Given the description of an element on the screen output the (x, y) to click on. 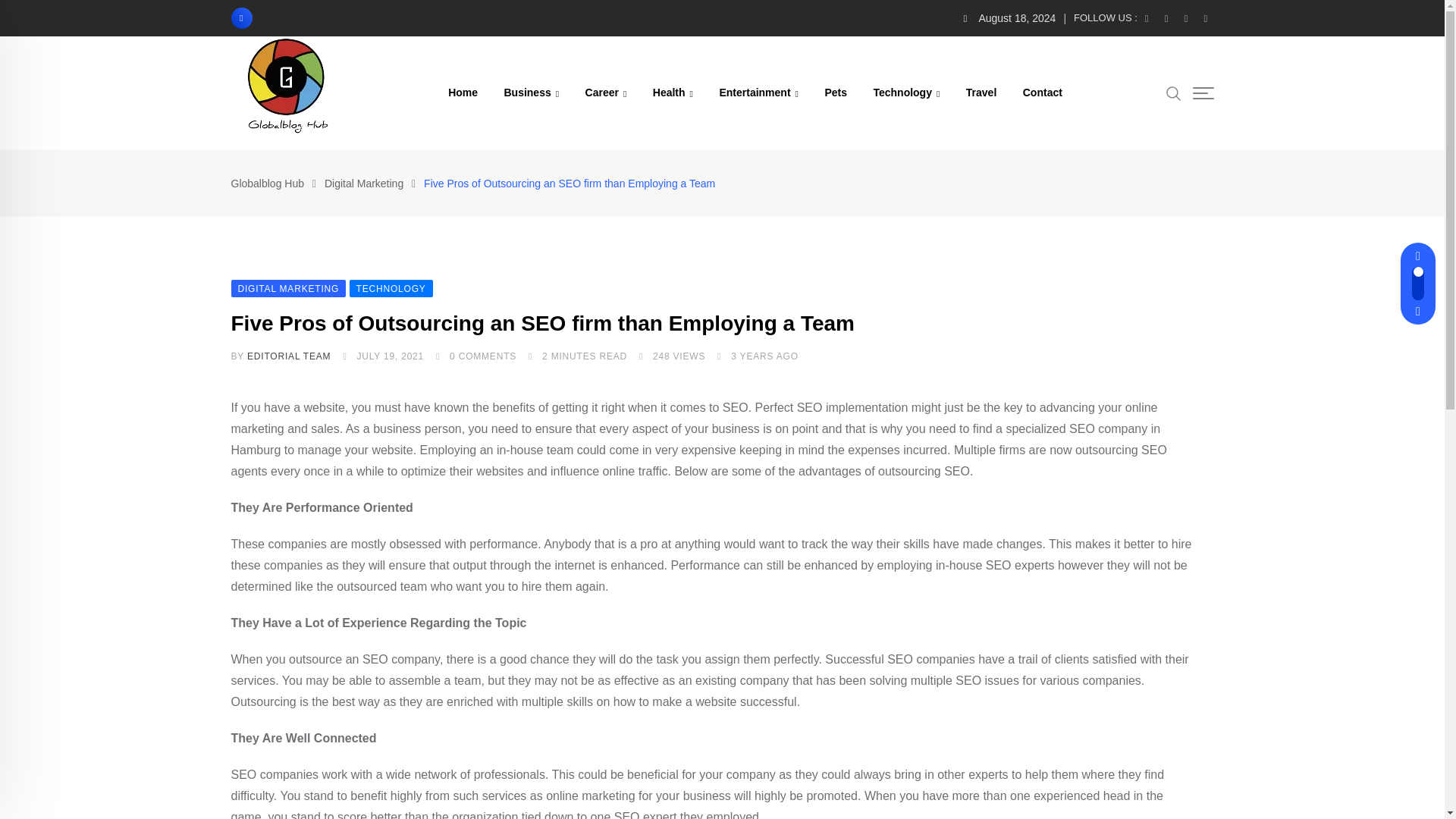
Go to the Digital Marketing Category archives. (363, 183)
Technology (905, 92)
Business (531, 92)
Search (1173, 92)
Go to Globalblog Hub. (267, 183)
Posts by Editorial Team (288, 356)
Entertainment (758, 92)
